Given the description of an element on the screen output the (x, y) to click on. 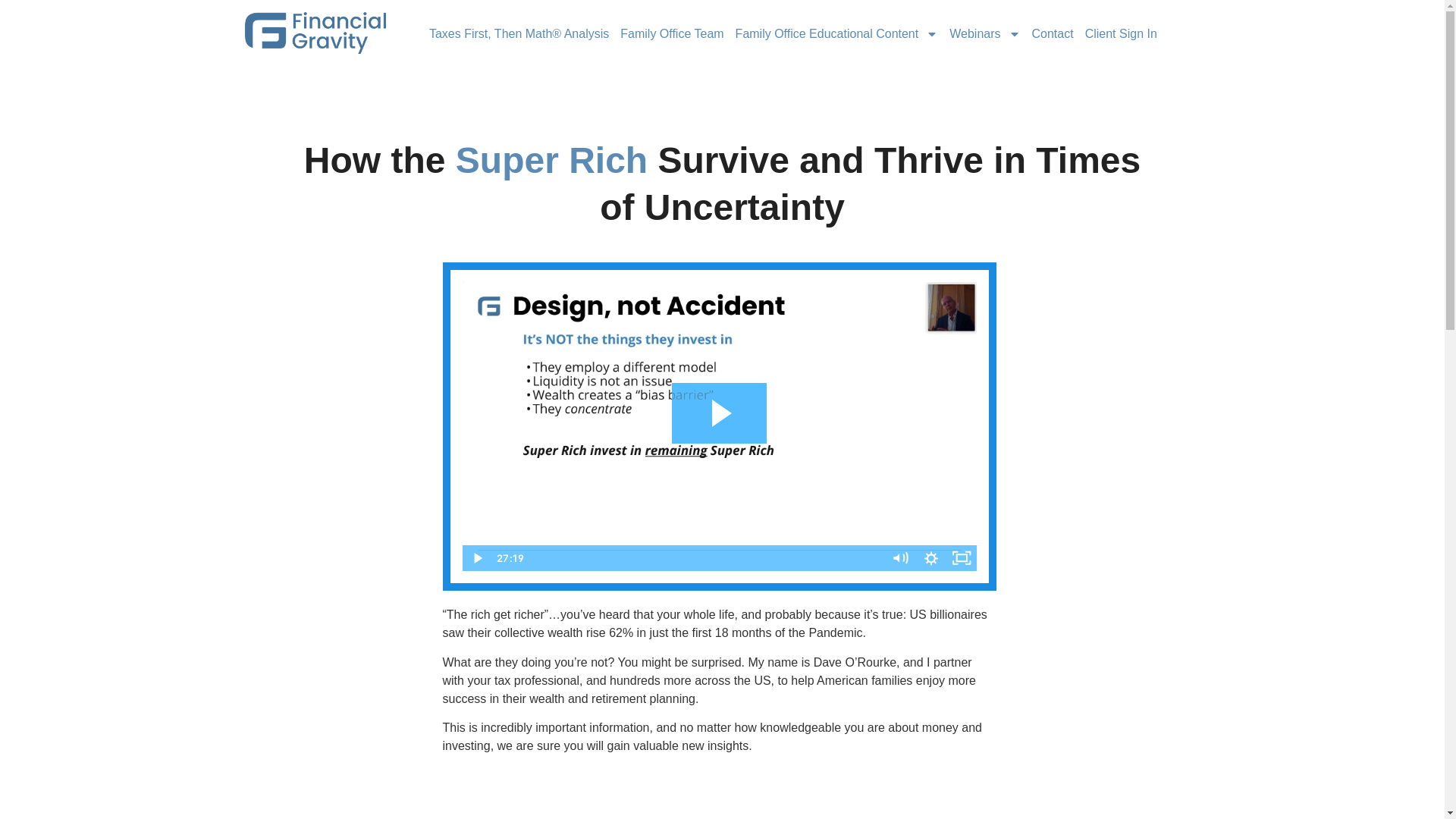
Webinars (983, 33)
Family Office Team (670, 33)
Client Sign In (1120, 33)
Contact (1052, 33)
Show settings menu (930, 557)
Family Office Educational Content (837, 33)
